Given the description of an element on the screen output the (x, y) to click on. 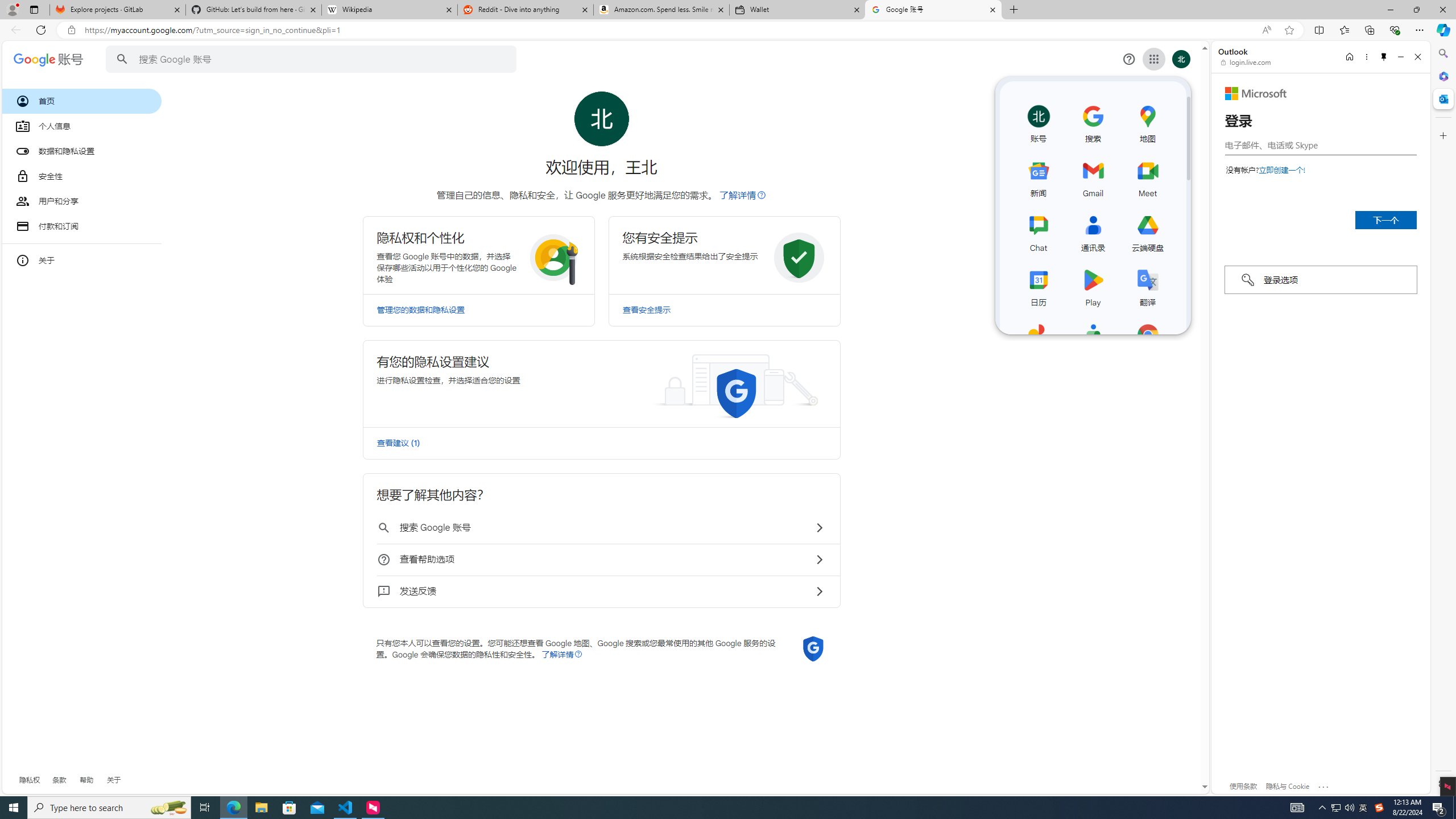
Class: RlFDUe N5YmOc kJXJmd bvW4md I6g62c (601, 383)
Wallet (797, 9)
